Given the description of an element on the screen output the (x, y) to click on. 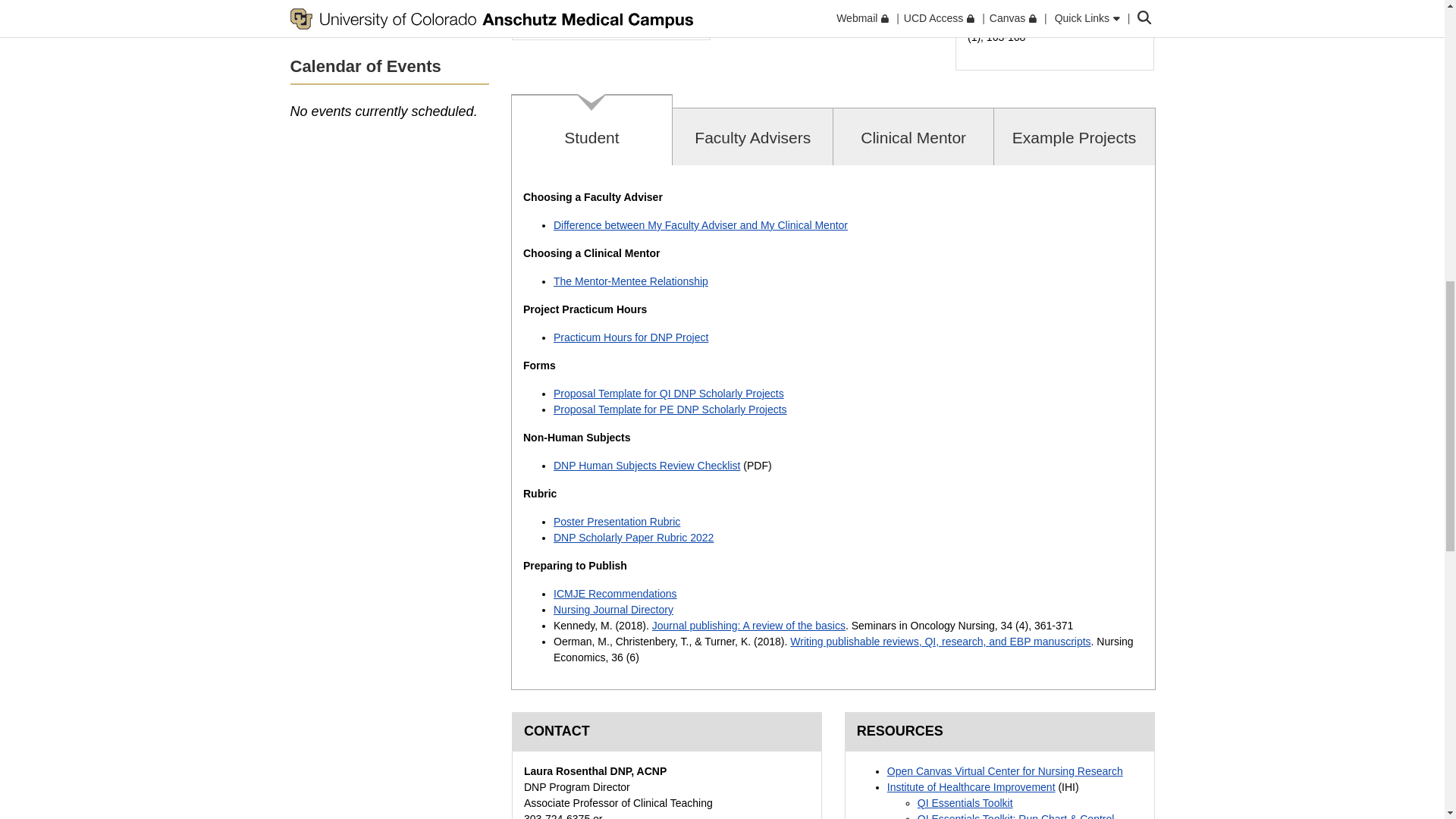
Proposal Template for PE DNP Scholarly Projects (670, 409)
ICMJE Recommendations (615, 593)
Practicum Hours for DNP Project (630, 337)
Difference between My Faculty Adviser and My Clinical Mentor (700, 224)
Proposal Template for QI DNP Scholarly Projects (668, 393)
DNP Human Subjects Review Checklist (646, 465)
